Given the description of an element on the screen output the (x, y) to click on. 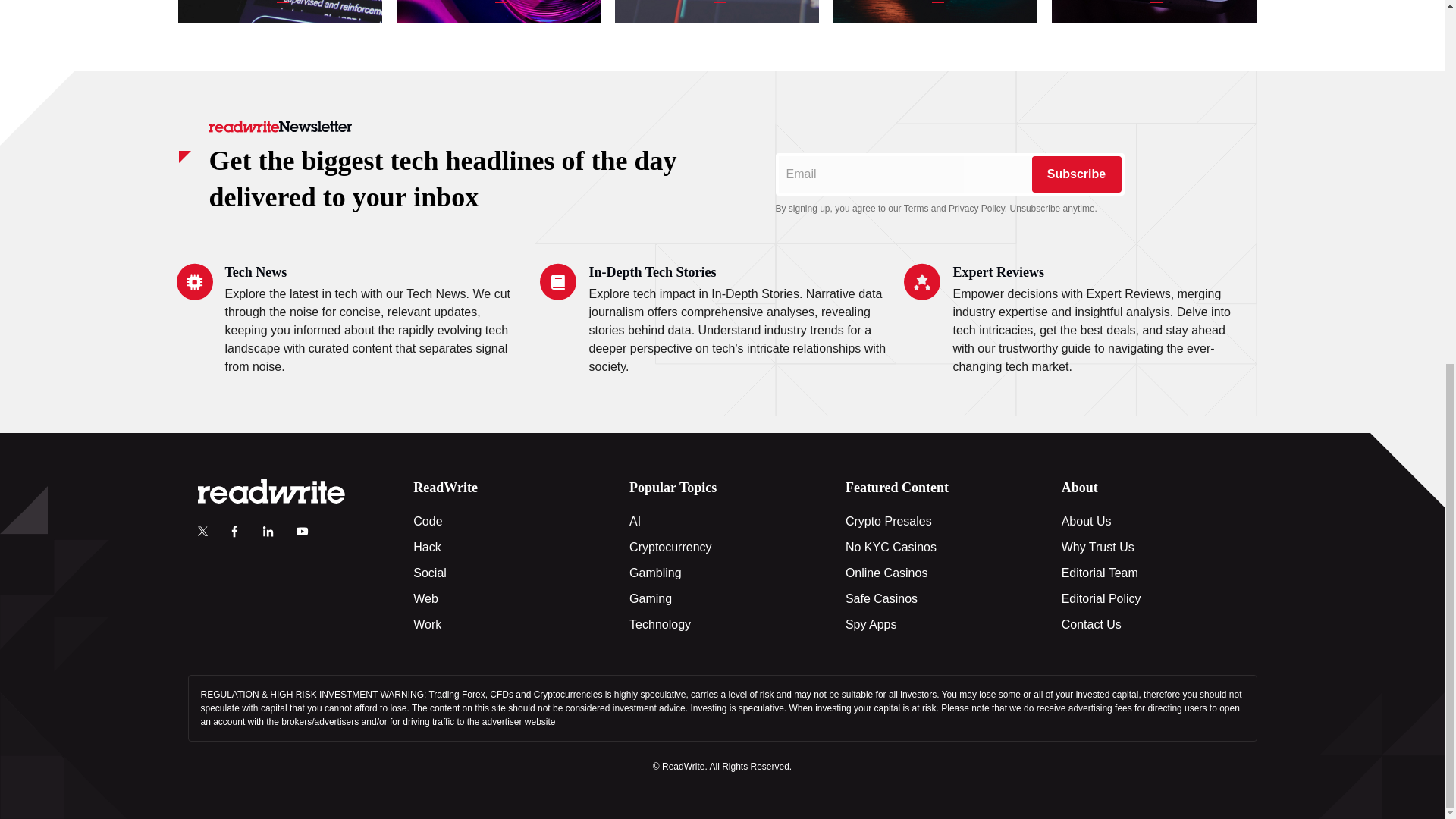
Subscribe (1075, 174)
